Given the description of an element on the screen output the (x, y) to click on. 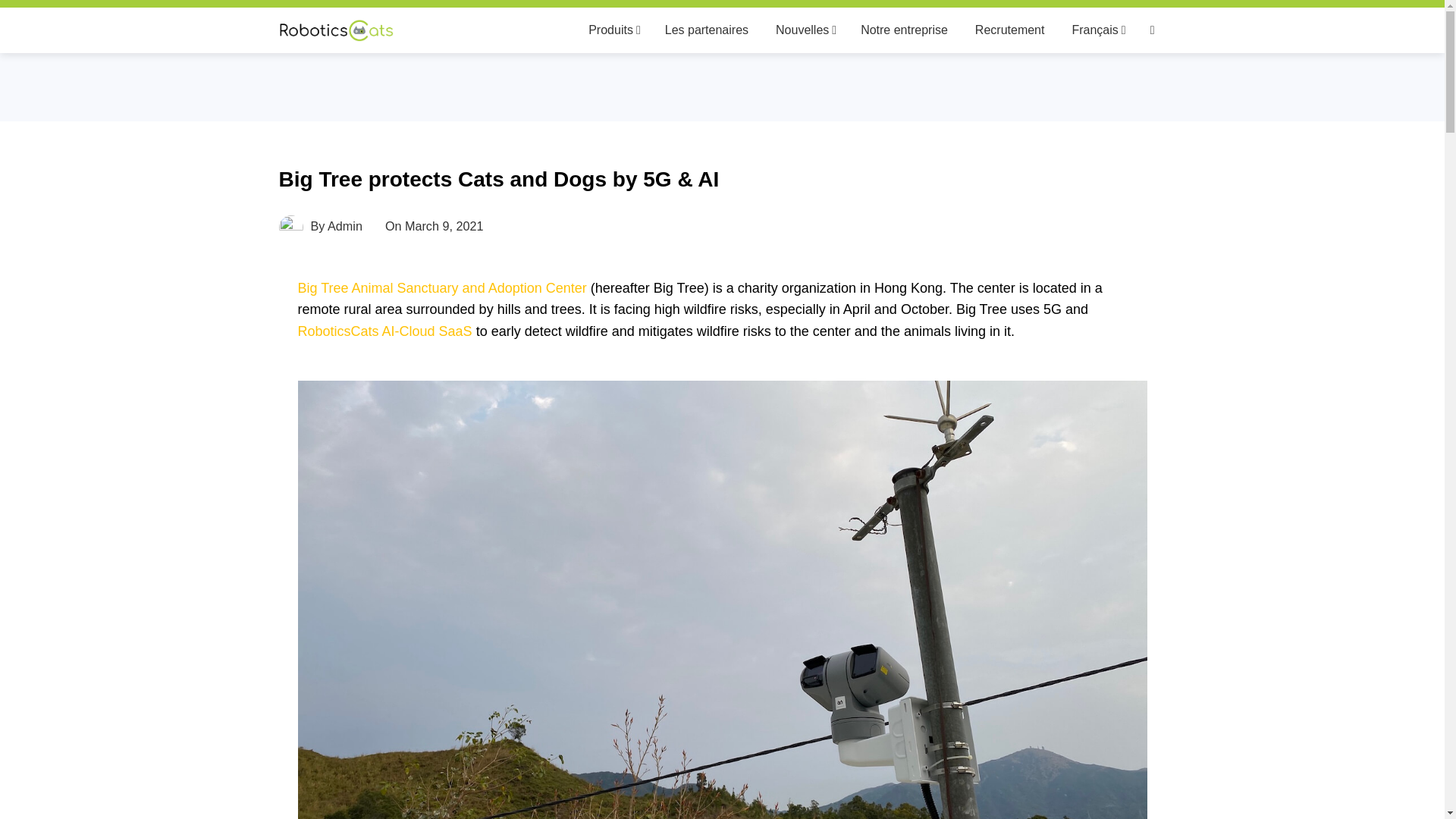
Nouvelles (804, 30)
Notre entreprise (903, 30)
Les partenaires (706, 30)
Big Tree Animal Sanctuary and Adoption Center (441, 287)
RoboticsCats AI-Cloud SaaS (384, 331)
Recrutement (1010, 30)
Produits (612, 30)
